Given the description of an element on the screen output the (x, y) to click on. 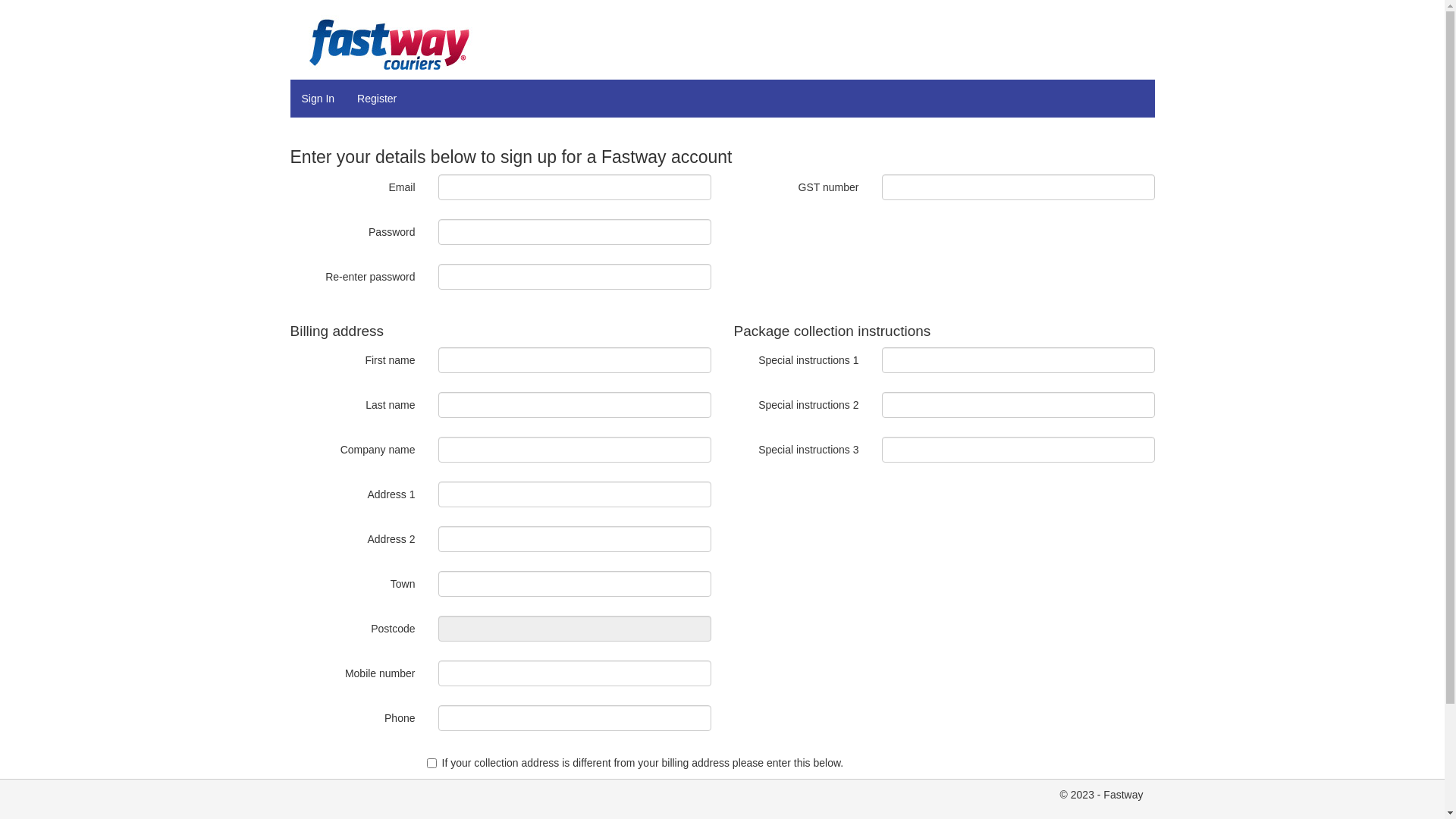
Fastway Couriers Element type: hover (392, 46)
Register Element type: text (376, 98)
Sign In Element type: text (317, 98)
